Given the description of an element on the screen output the (x, y) to click on. 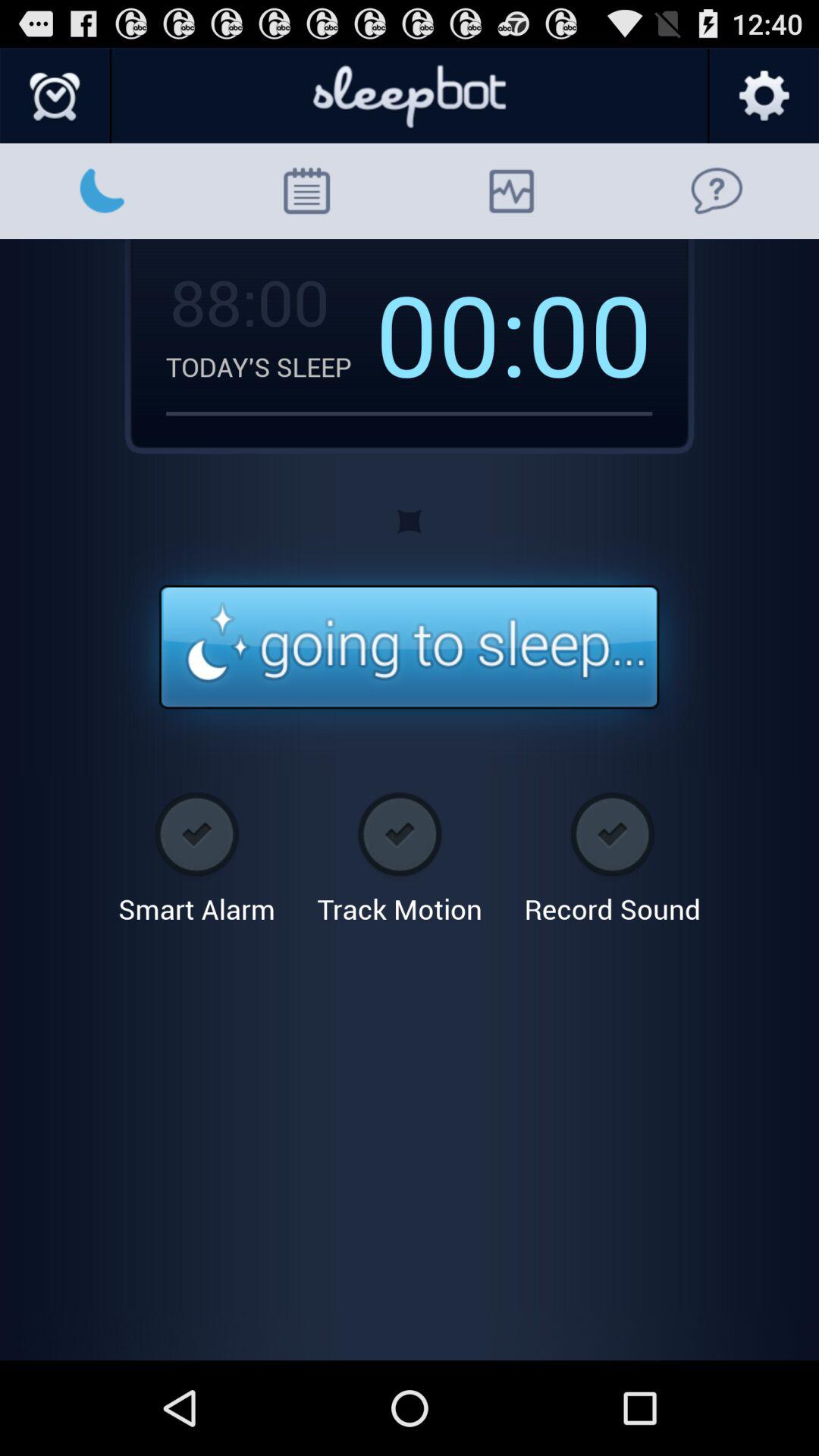
set alarm (55, 96)
